Given the description of an element on the screen output the (x, y) to click on. 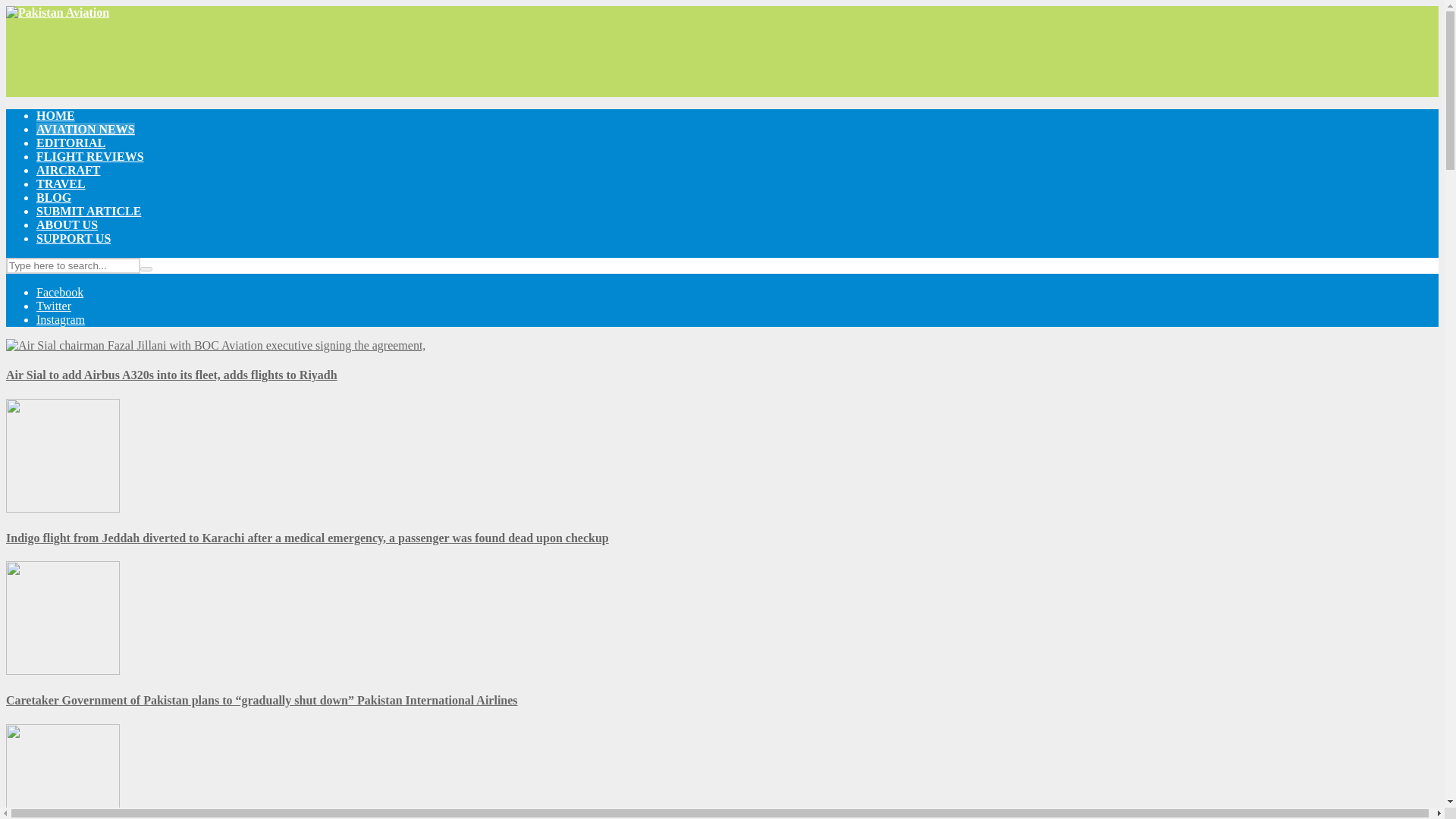
AIRCRAFT (68, 169)
Facebook (59, 291)
FLIGHT REVIEWS (90, 155)
TRAVEL (60, 183)
ABOUT US (66, 224)
Instagram (60, 318)
HOME (55, 115)
